Given the description of an element on the screen output the (x, y) to click on. 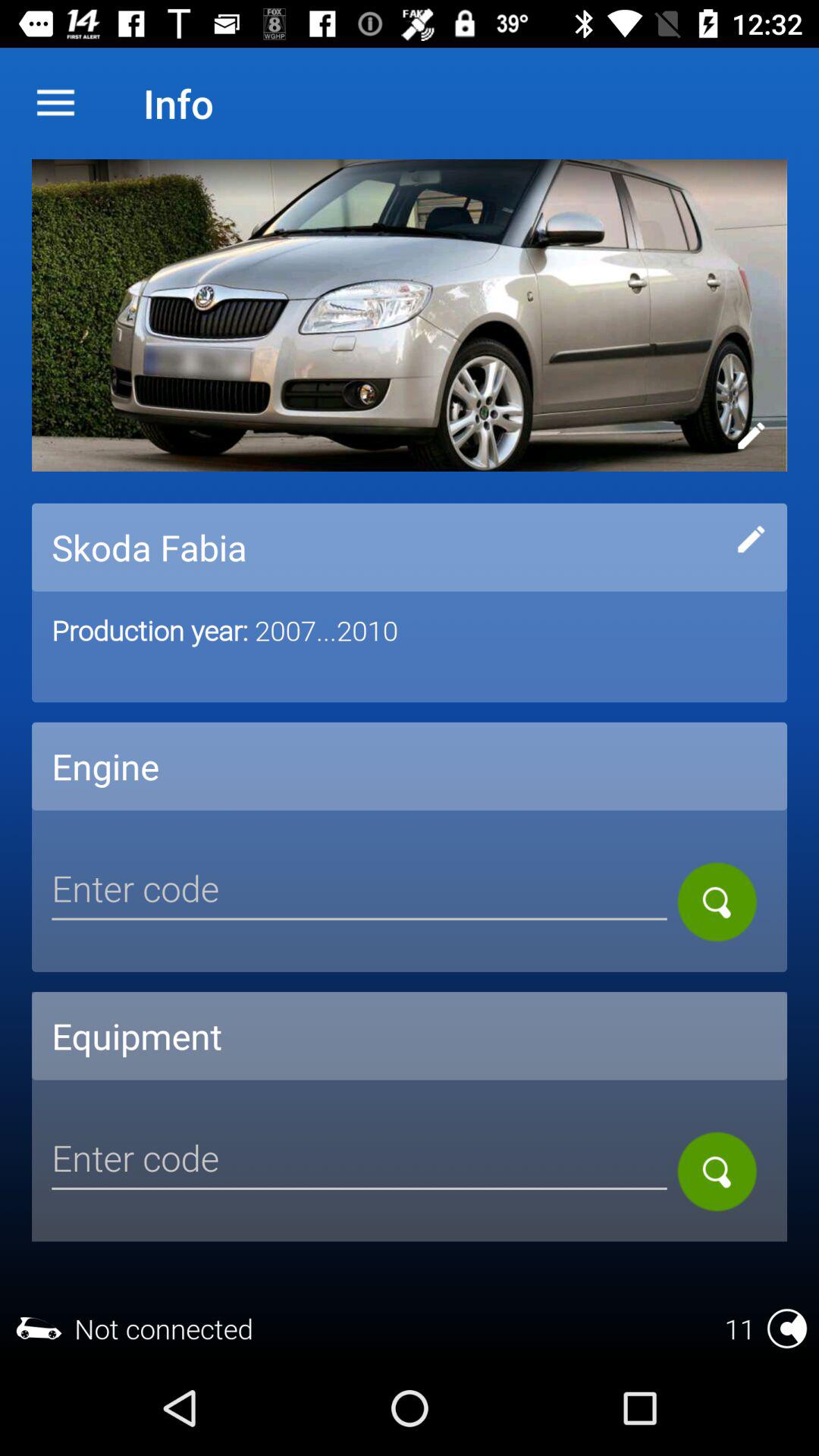
search (717, 1171)
